Given the description of an element on the screen output the (x, y) to click on. 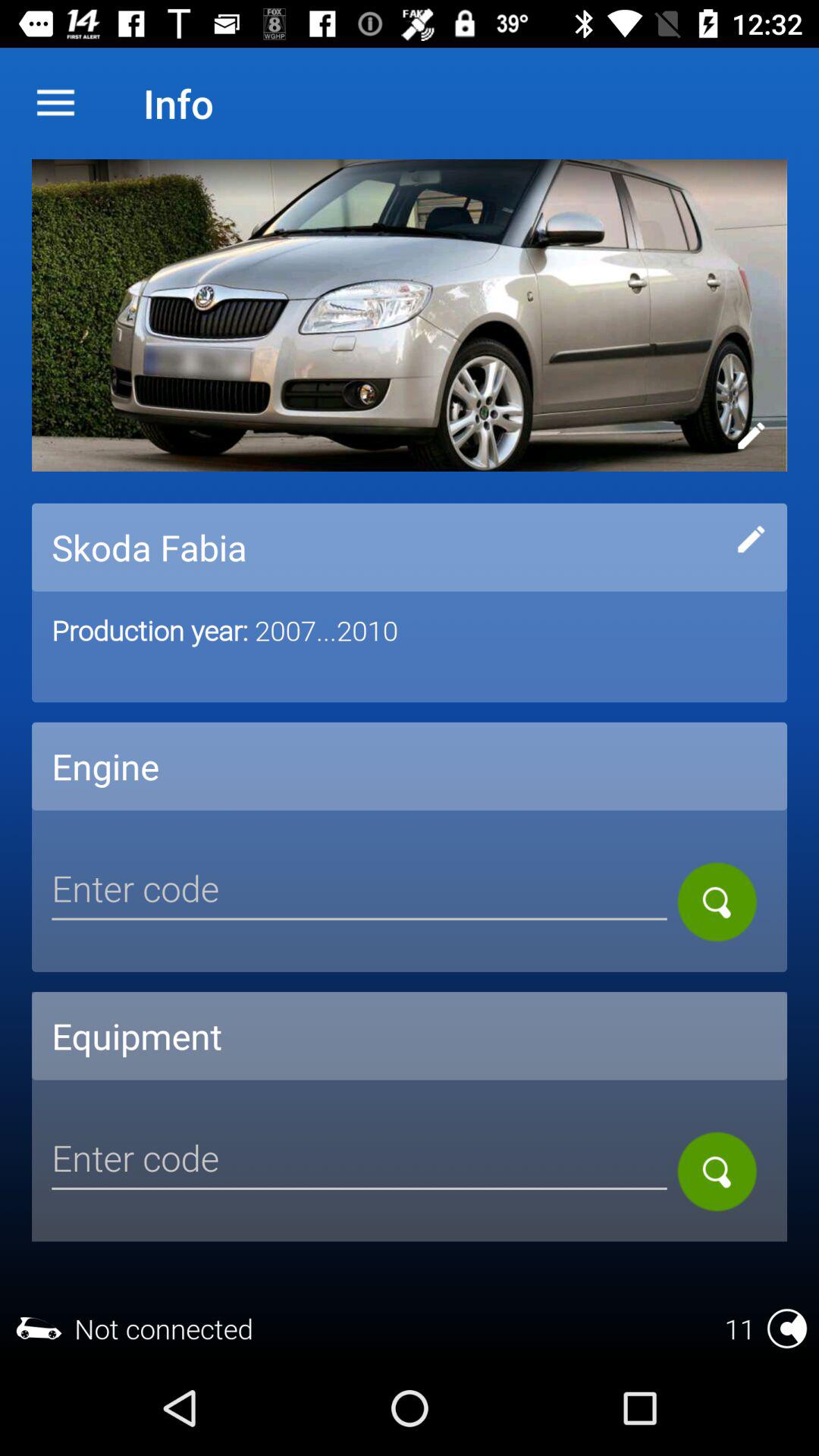
search (717, 1171)
